Given the description of an element on the screen output the (x, y) to click on. 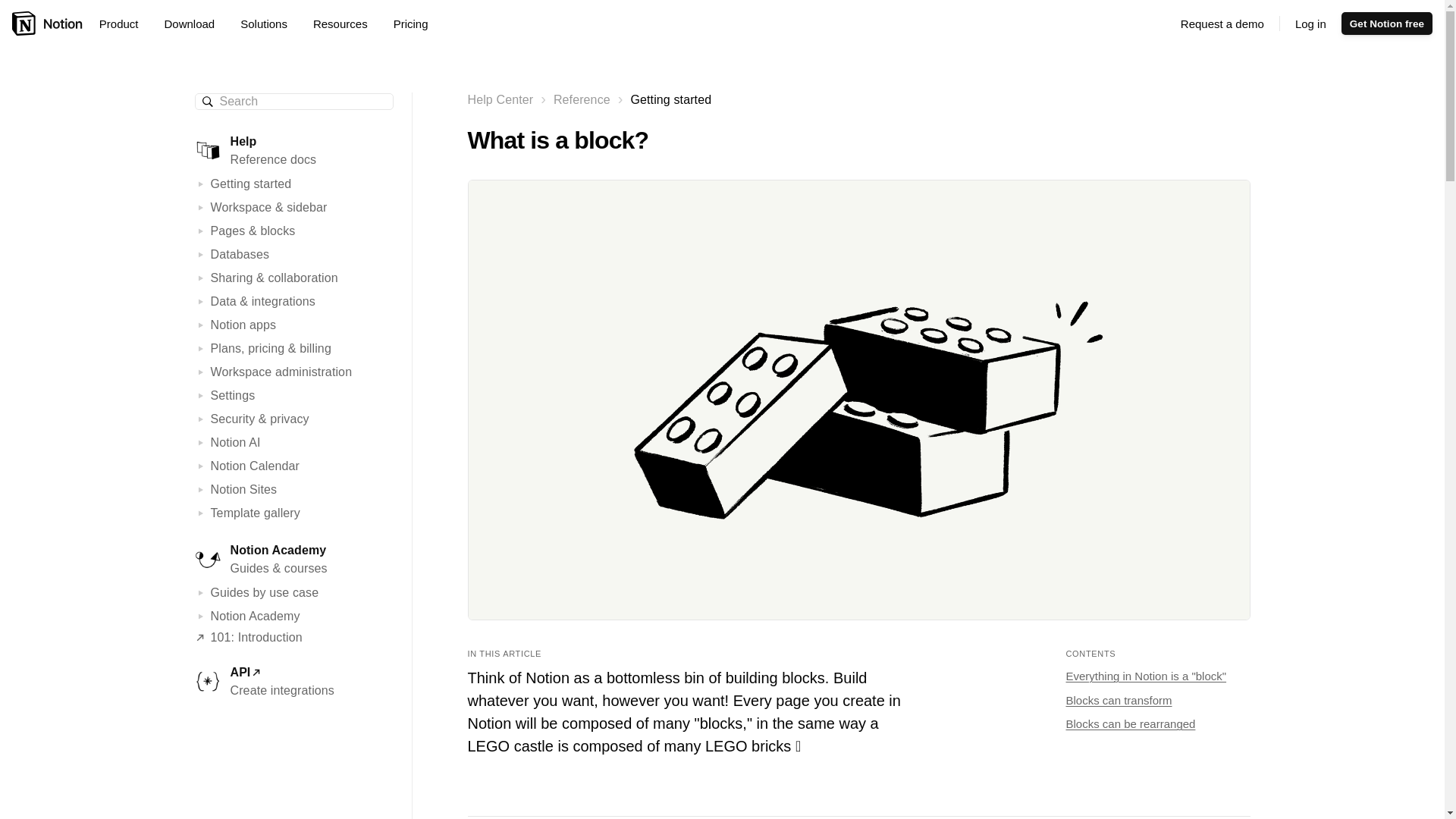
Expand Workspace administration section (201, 372)
Expand Notion Academy section (201, 616)
Expand Notion AI section (201, 442)
Expand Databases section (201, 254)
Expand Settings section (201, 395)
Expand Notion Sites section (201, 490)
Resources (345, 23)
Expand Notion Calendar section (201, 466)
Expand Getting started section (201, 184)
Product (124, 23)
Expand Template gallery section (201, 512)
Pricing (410, 23)
Download (193, 23)
Expand Guides by use case section (201, 592)
Request a demo (1222, 23)
